Given the description of an element on the screen output the (x, y) to click on. 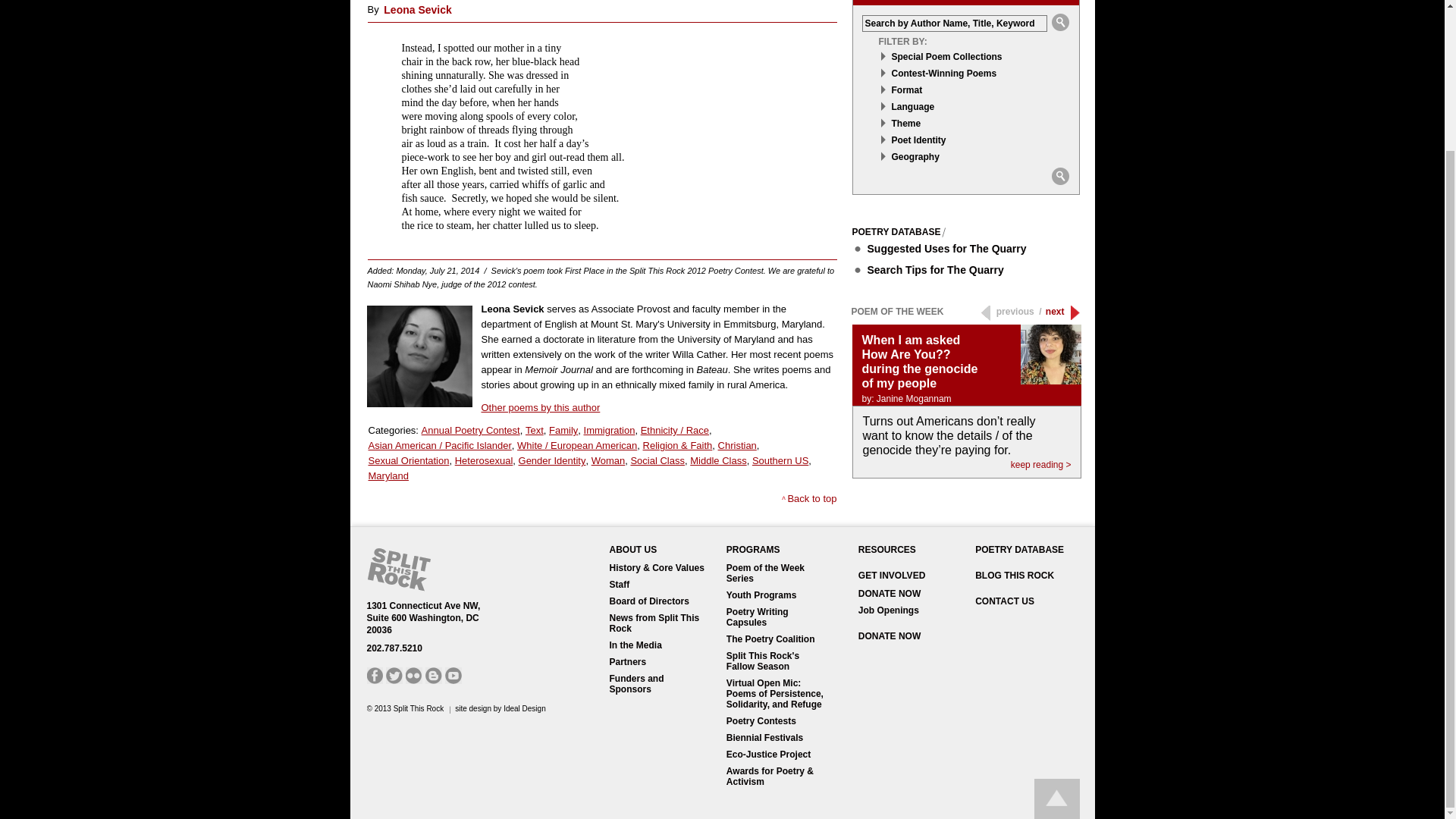
submit (1059, 22)
submit (1059, 176)
